Given the description of an element on the screen output the (x, y) to click on. 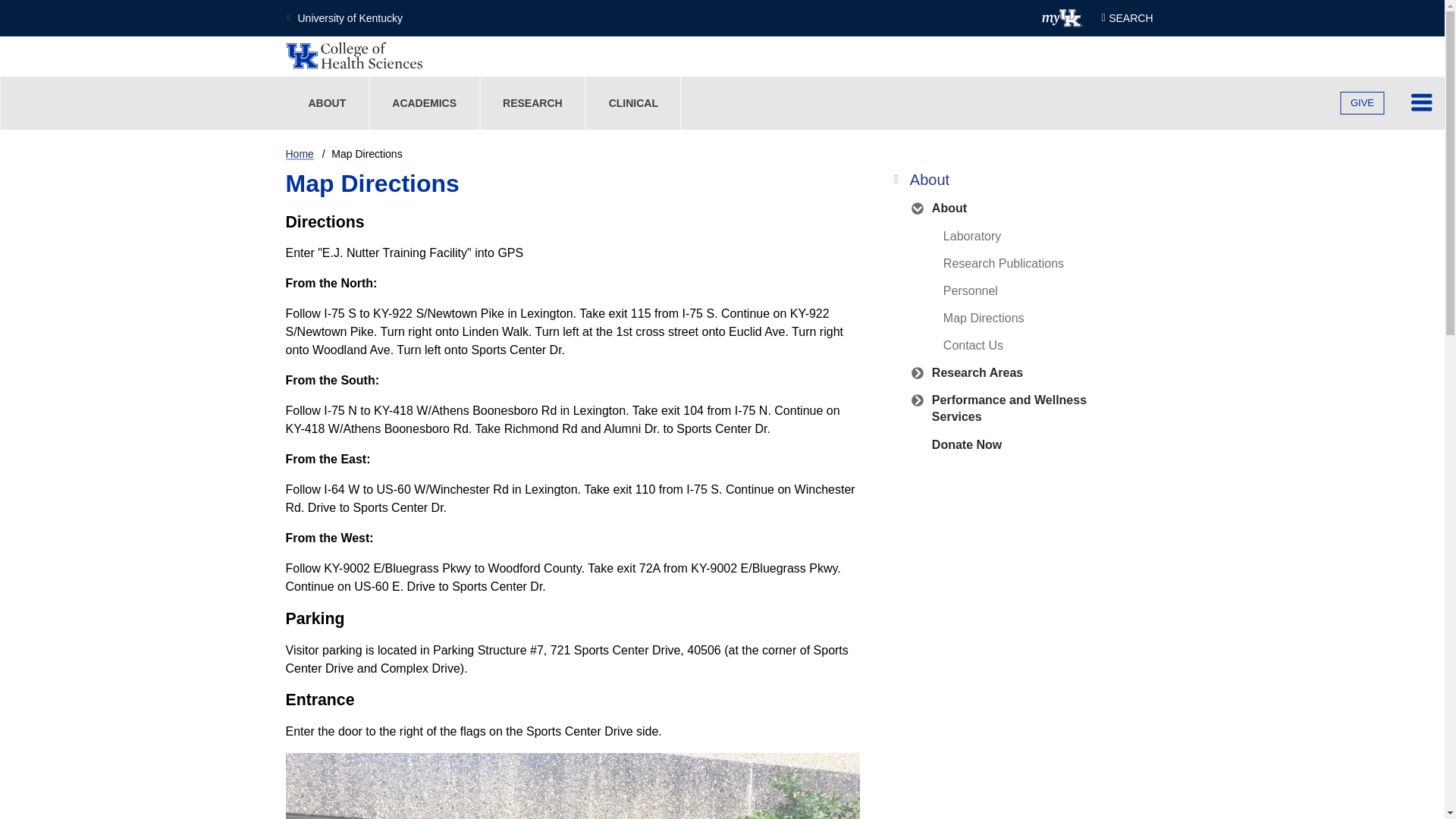
ABOUT (326, 102)
Log into the myUK portal (1062, 18)
RESEARCH (532, 102)
Back to University of Kentucky home page (344, 18)
CLINICAL (633, 102)
University of Kentucky (344, 18)
SEARCH (1127, 17)
ACADEMICS (424, 102)
